Given the description of an element on the screen output the (x, y) to click on. 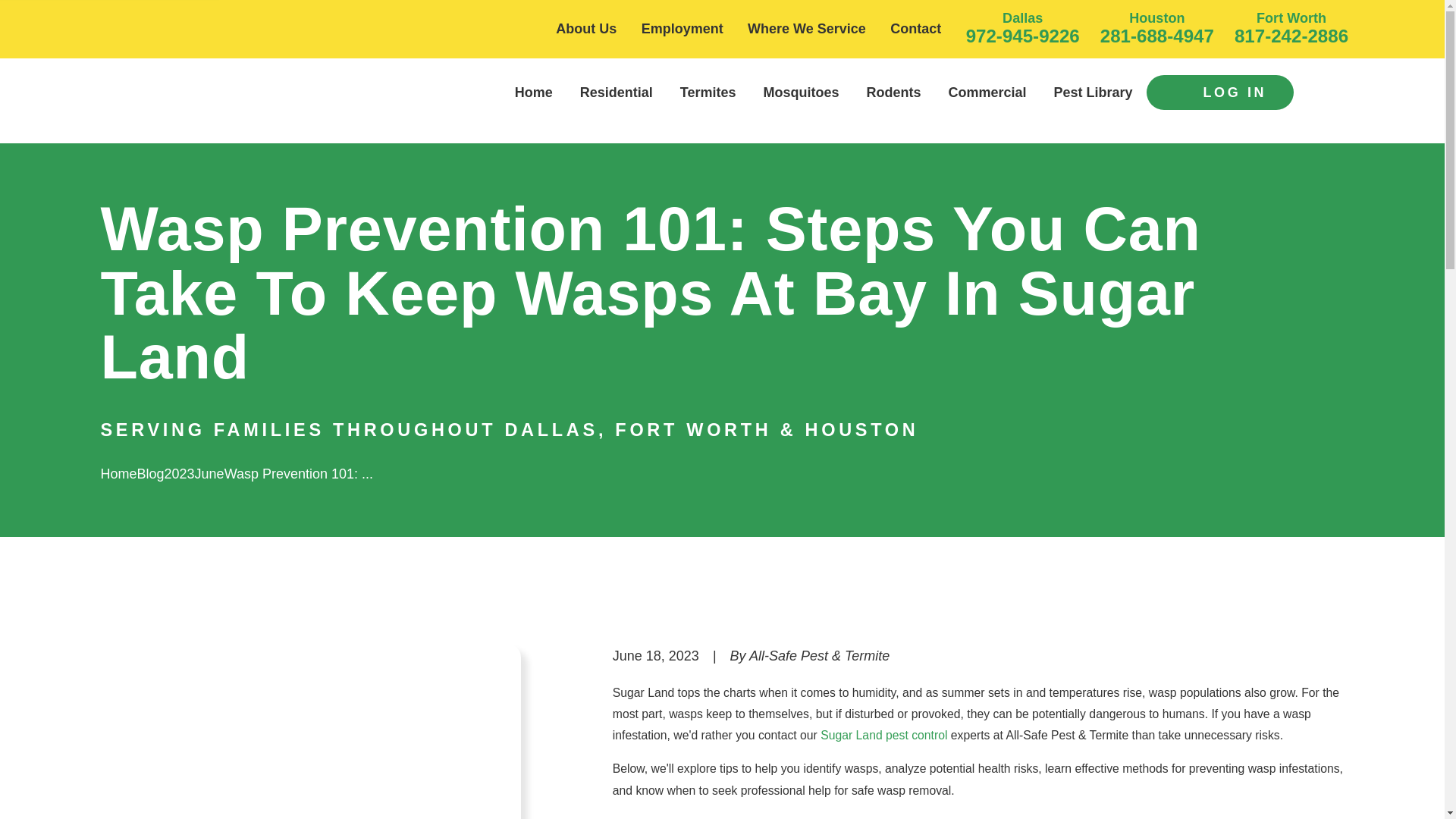
Go Home (118, 473)
817-242-2886 (1291, 35)
Contact (914, 28)
Main Menu (1332, 92)
Residential (615, 92)
Mosquitoes (801, 92)
Where We Service (807, 28)
Termites (707, 92)
Employment (682, 28)
Commercial (987, 92)
